Given the description of an element on the screen output the (x, y) to click on. 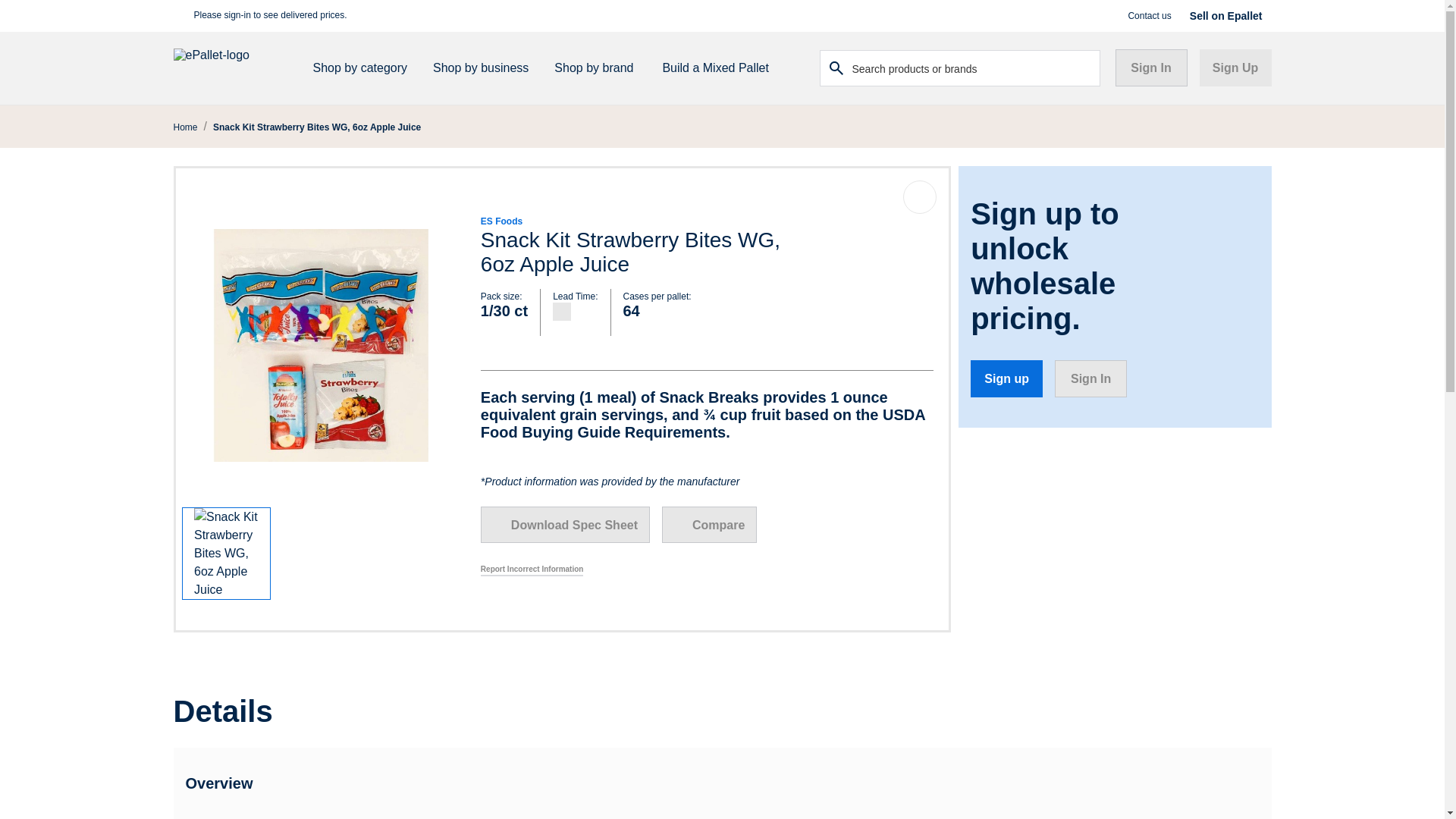
Download Spec Sheet (564, 524)
Build a Mixed Pallet (713, 67)
Shop by category (365, 67)
Please sign-in to see delivered prices. (270, 15)
Shop by business (485, 67)
Sign In (1150, 67)
Sign up (1006, 378)
Sign Up (1235, 67)
Contact us (1148, 15)
Report Incorrect Information (531, 570)
Shop by brand (598, 67)
Compare (709, 524)
Sign In (1090, 378)
Home (185, 126)
Sell on Epallet (1225, 15)
